Given the description of an element on the screen output the (x, y) to click on. 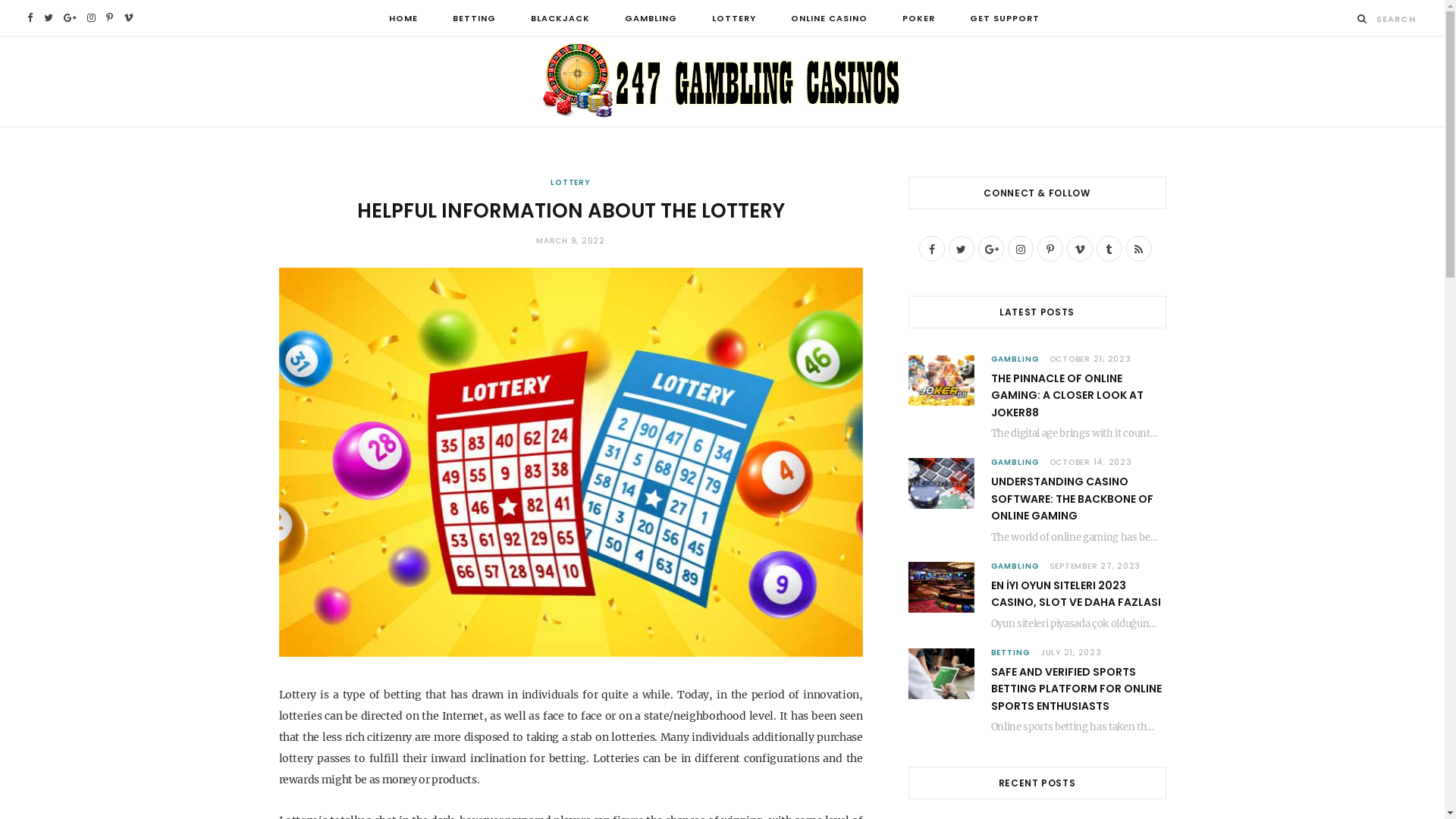
Twitter Element type: text (960, 248)
Google Plus Element type: text (991, 248)
MARCH 9, 2022 Element type: text (570, 240)
BLACKJACK Element type: text (559, 18)
OCTOBER 14, 2023 Element type: text (1090, 461)
Pinterest Element type: text (109, 18)
ONLINE CASINO Element type: text (829, 18)
Vimeo Element type: text (128, 18)
Twitter Element type: text (48, 18)
OCTOBER 21, 2023 Element type: text (1090, 358)
Instagram Element type: text (91, 18)
RSS Element type: text (1138, 248)
Google Plus Element type: text (70, 18)
Facebook Element type: text (931, 248)
BETTING Element type: text (1009, 652)
BETTING Element type: text (473, 18)
Facebook Element type: text (29, 18)
GAMBLING Element type: text (1014, 461)
SEPTEMBER 27, 2023 Element type: text (1095, 565)
Helpful Information About The Lottery Element type: hover (570, 461)
Instagram Element type: text (1019, 248)
Tumblr Element type: text (1109, 248)
LOTTERY Element type: text (733, 18)
GAMBLING Element type: text (1014, 358)
The Pinnacle of Online Gaming: A Closer Look at Joker88 Element type: hover (941, 379)
THE PINNACLE OF ONLINE GAMING: A CLOSER LOOK AT JOKER88 Element type: text (1066, 395)
GAMBLING Element type: text (650, 18)
UNDERSTANDING CASINO SOFTWARE: THE BACKBONE OF ONLINE GAMING Element type: text (1071, 498)
GET SUPPORT Element type: text (1004, 18)
LOTTERY Element type: text (570, 182)
Understanding Casino Software: The Backbone of Online Gaming Element type: hover (941, 483)
HOME Element type: text (403, 18)
JULY 21, 2023 Element type: text (1070, 652)
GAMBLING Element type: text (1014, 565)
Vimeo Element type: text (1079, 248)
Pinterest Element type: text (1050, 248)
POKER Element type: text (918, 18)
